Given the description of an element on the screen output the (x, y) to click on. 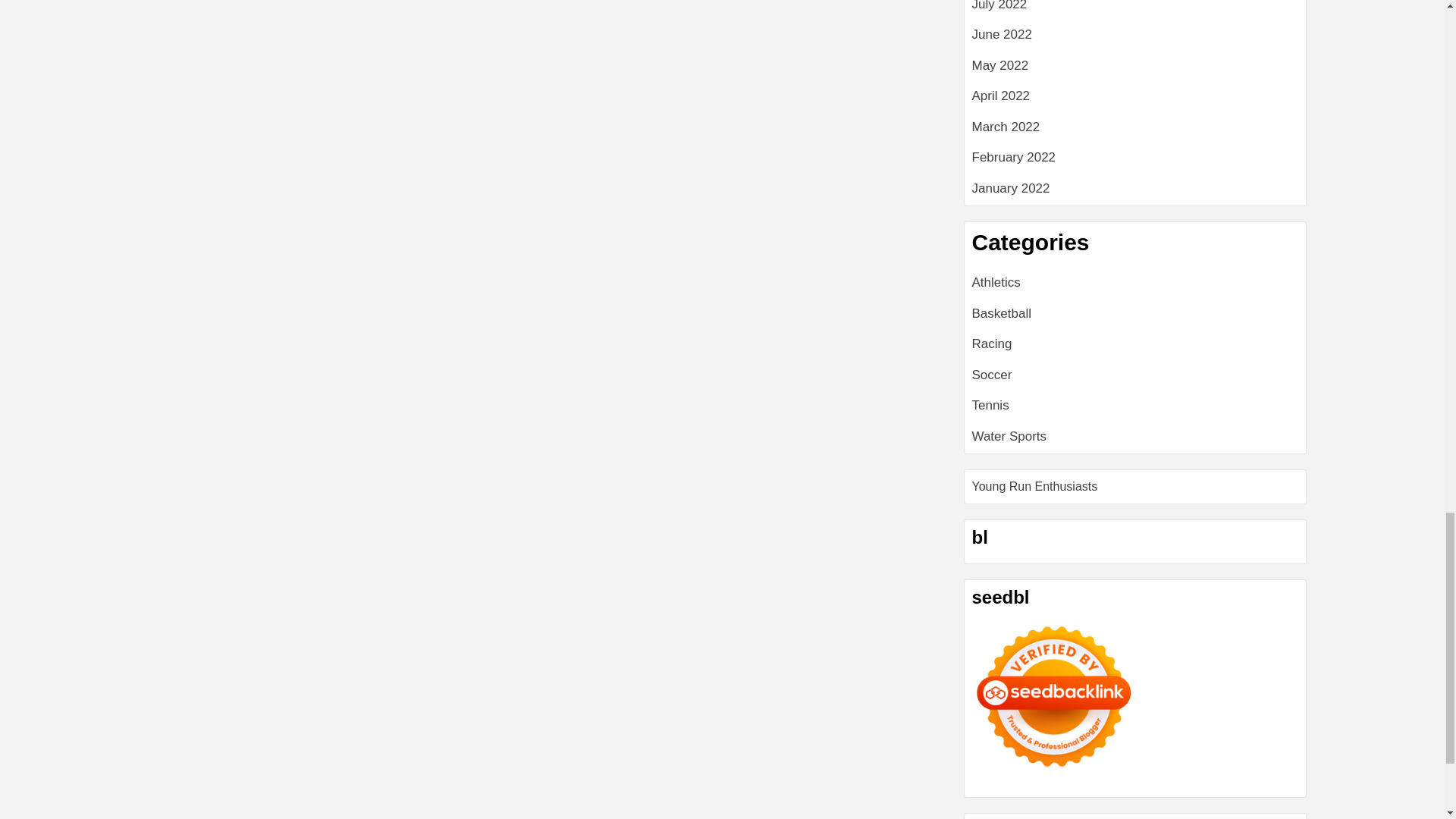
Seedbacklink (1053, 666)
